Given the description of an element on the screen output the (x, y) to click on. 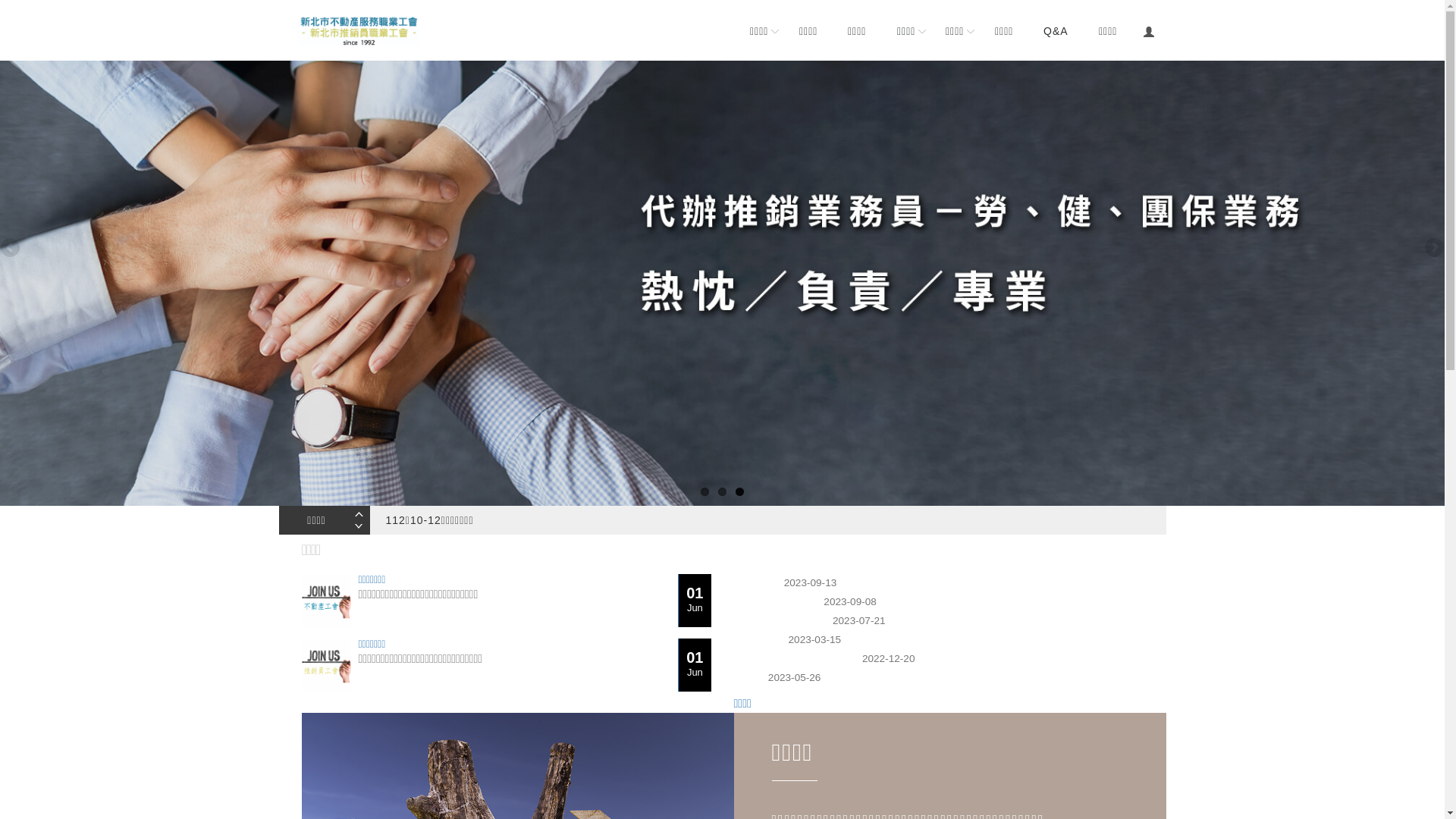
2 Element type: text (722, 491)
01
Jun Element type: text (693, 600)
Previous Element type: text (362, 512)
Next Element type: text (362, 526)
Next Element type: text (1432, 248)
Q&A Element type: text (1054, 30)
01
Jun Element type: text (693, 664)
1 Element type: text (704, 491)
Previous Element type: text (11, 248)
3 Element type: text (739, 491)
